Given the description of an element on the screen output the (x, y) to click on. 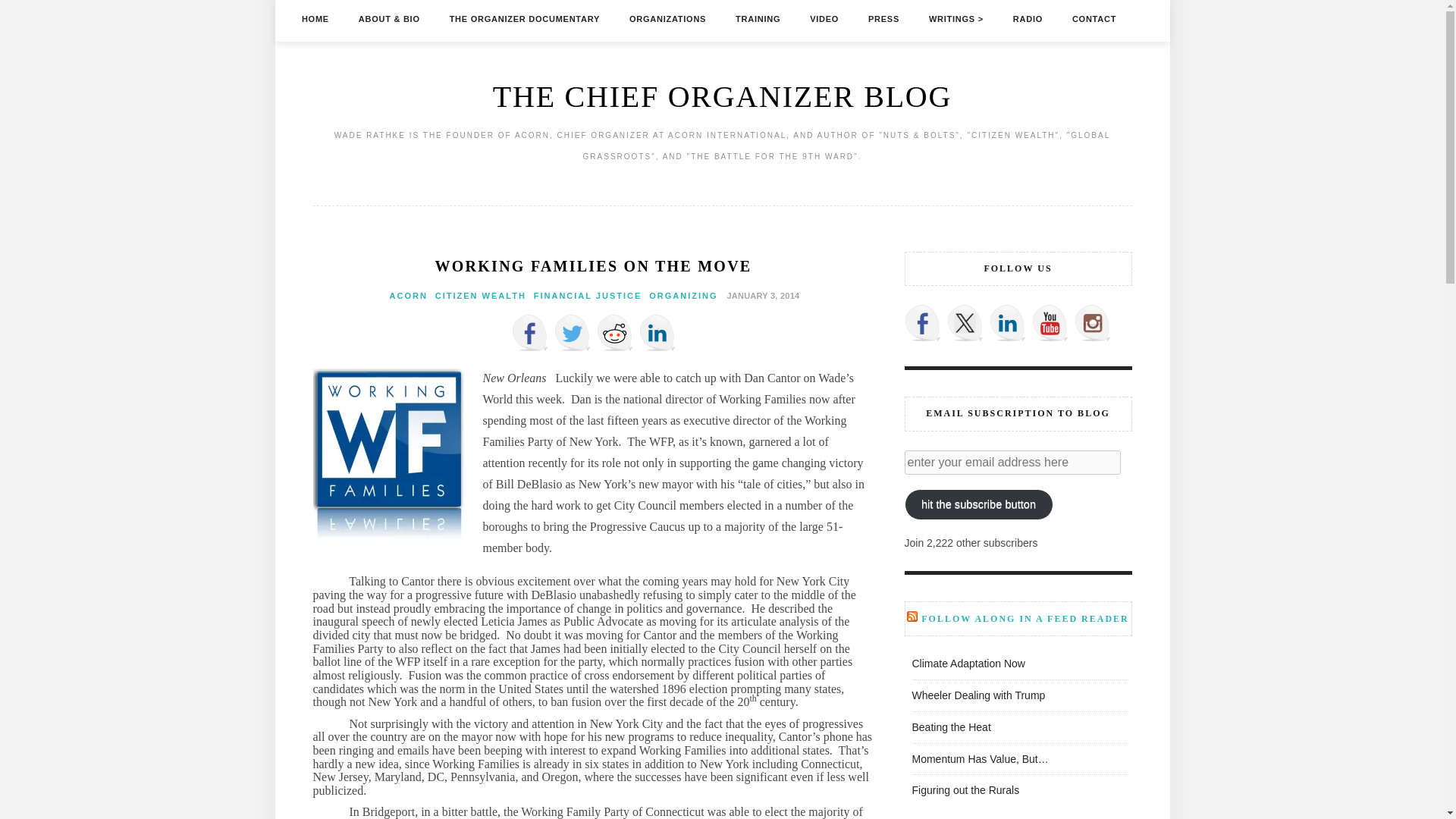
CONTACT (1093, 18)
CITIZEN WEALTH (480, 295)
ORGANIZATIONS (667, 18)
JANUARY 3, 2014 (760, 295)
THE CHIEF ORGANIZER BLOG (722, 96)
FINANCIAL JUSTICE (588, 295)
Share on Reddit (613, 332)
Share on LinkedIn (657, 332)
Share on Facebook (529, 332)
Share on Twitter (571, 332)
TRAINING (757, 18)
ACORN (409, 295)
THE ORGANIZER DOCUMENTARY (524, 18)
ORGANIZING (683, 295)
